Given the description of an element on the screen output the (x, y) to click on. 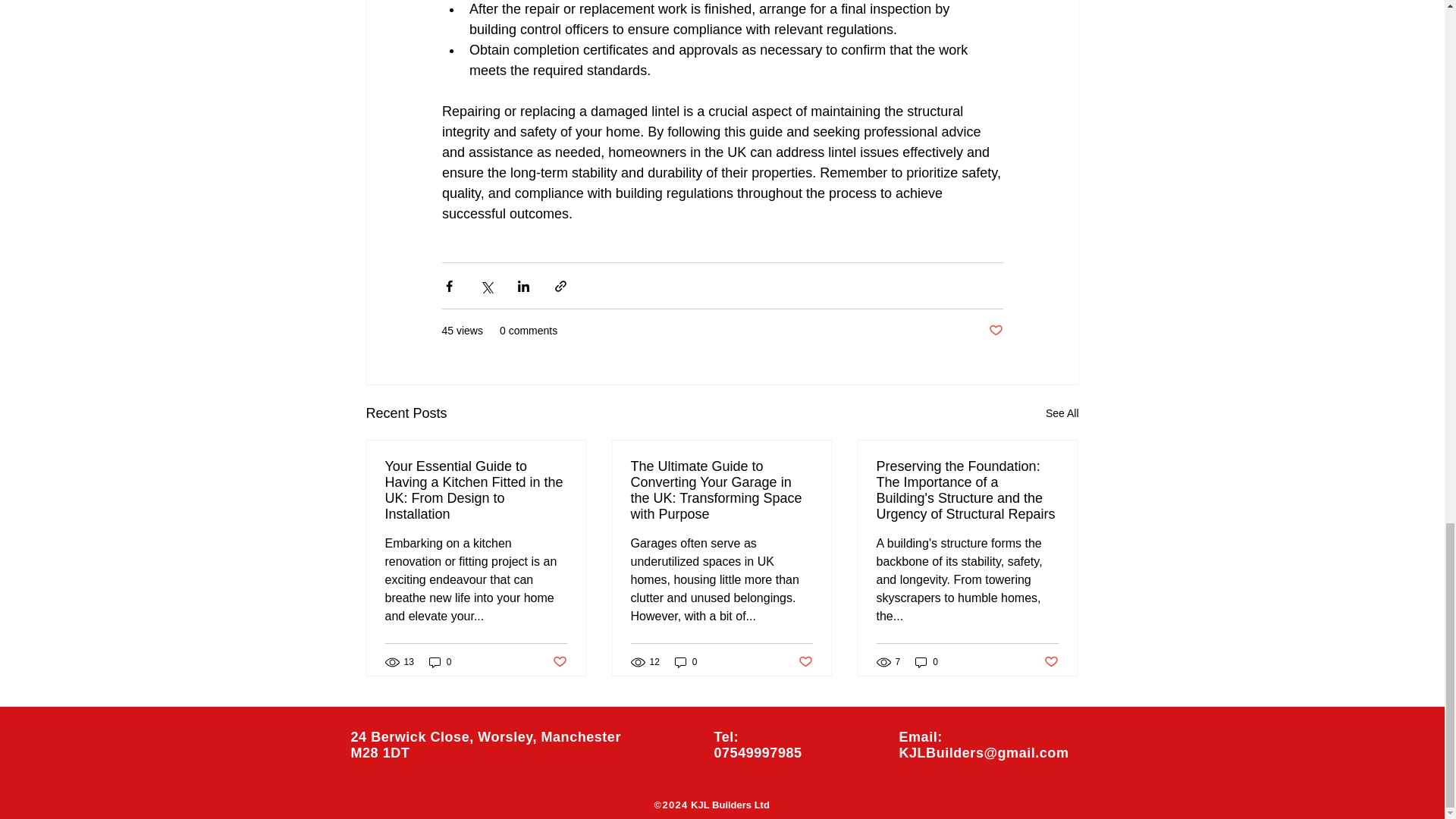
See All (1061, 413)
0 (685, 662)
0 (440, 662)
Post not marked as liked (995, 330)
Post not marked as liked (558, 662)
